Given the description of an element on the screen output the (x, y) to click on. 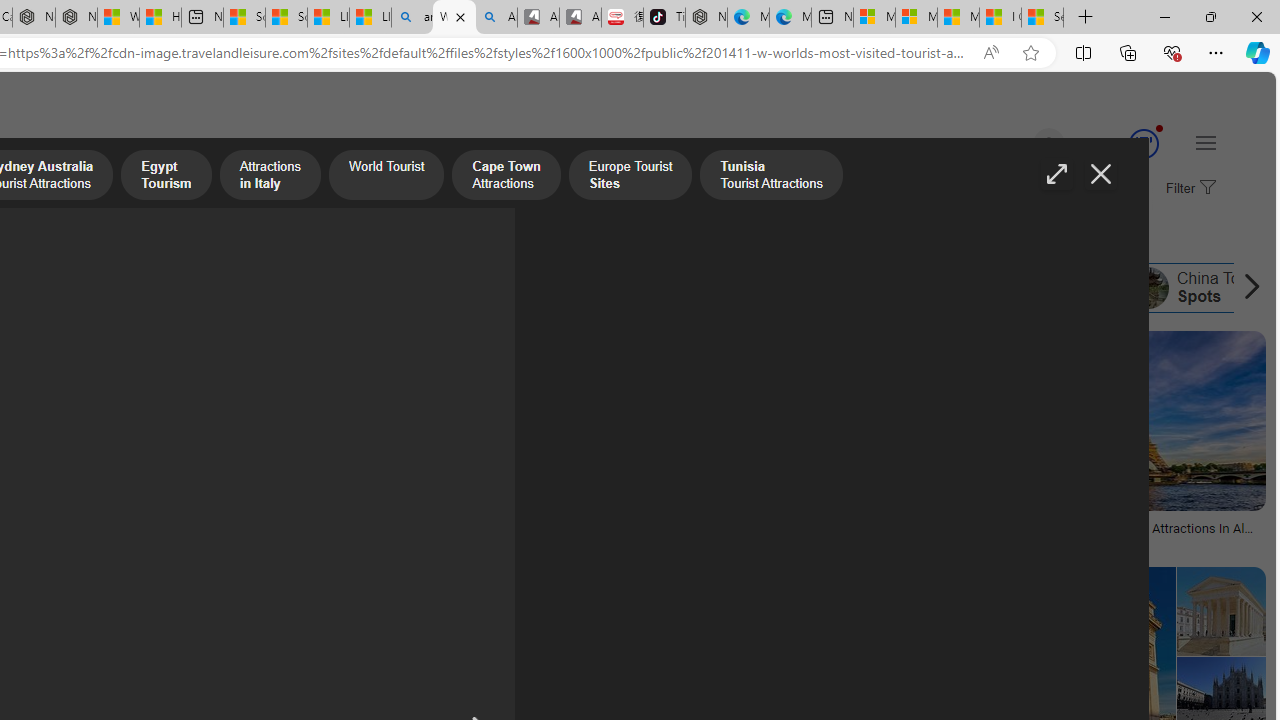
Microsoft Rewards 138 (1119, 143)
World Tourist (386, 177)
China Tourist Spots (1147, 287)
Top 10 Tourist Attractions in the World (758, 287)
Wildlife - MSN (118, 17)
Jetsetter (148, 541)
Image result for World tourist attraction (1221, 611)
Tunisia Tourist Attractions (447, 287)
Europe Tourist Sites (324, 287)
Eugene (1019, 143)
Nordace - Summer Adventures 2024 (76, 17)
